Given the description of an element on the screen output the (x, y) to click on. 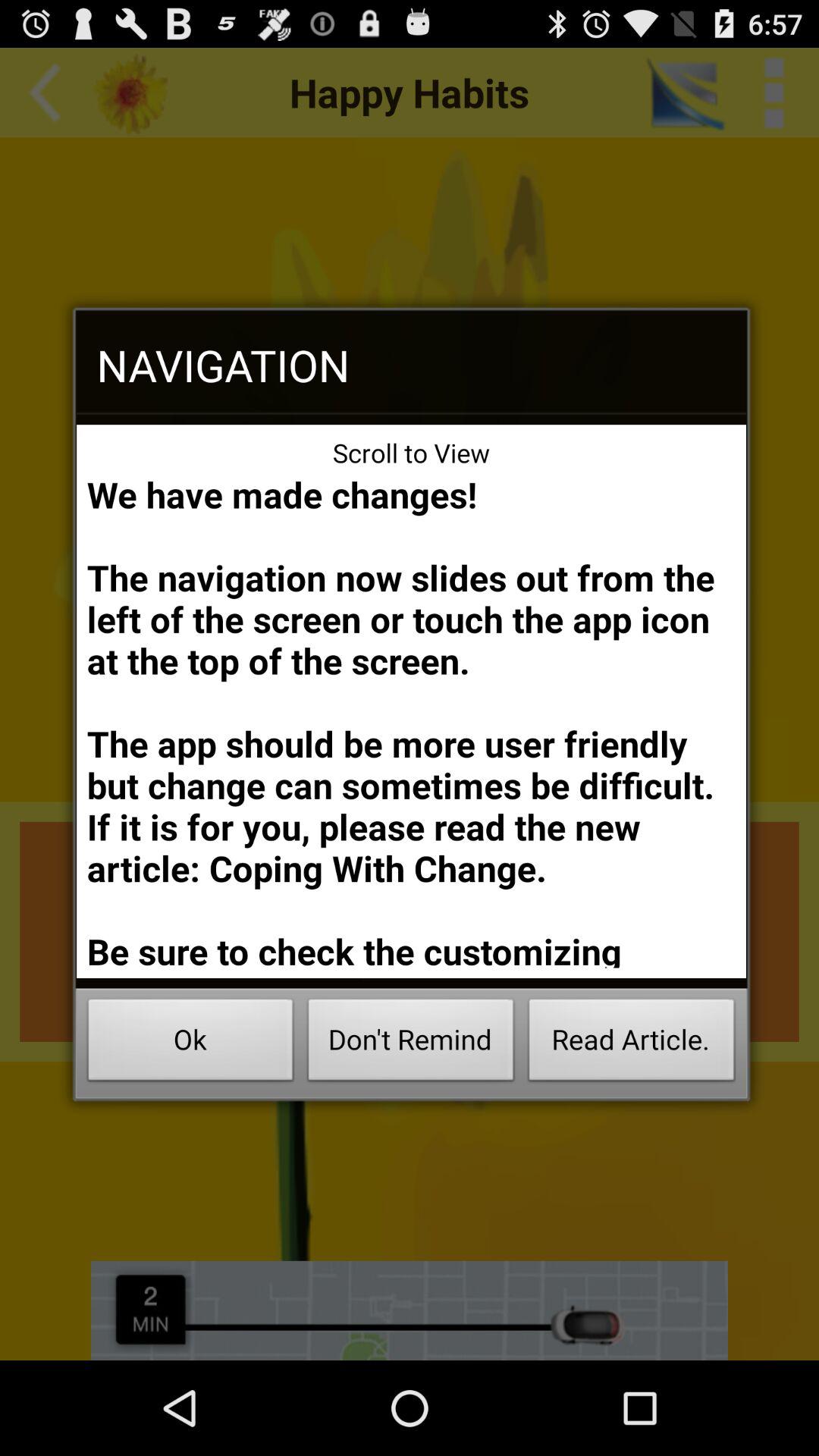
swipe until the ok icon (190, 1044)
